Given the description of an element on the screen output the (x, y) to click on. 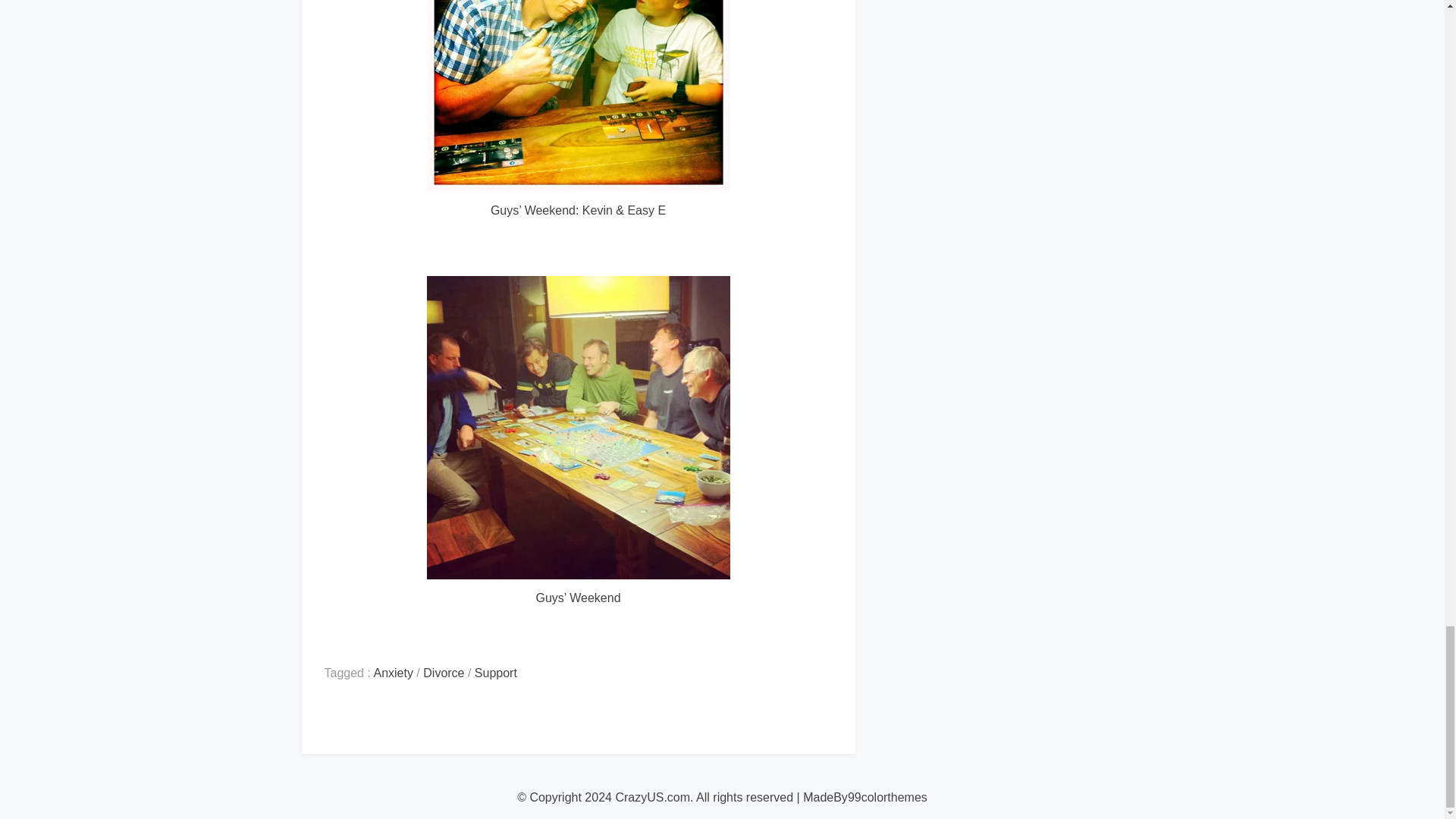
Divorce (443, 672)
Guys' Weekend (577, 95)
Guys'  Weekend (577, 427)
Support (495, 672)
99colorthemes (887, 797)
Anxiety (392, 672)
CrazyUS.com (652, 797)
